Given the description of an element on the screen output the (x, y) to click on. 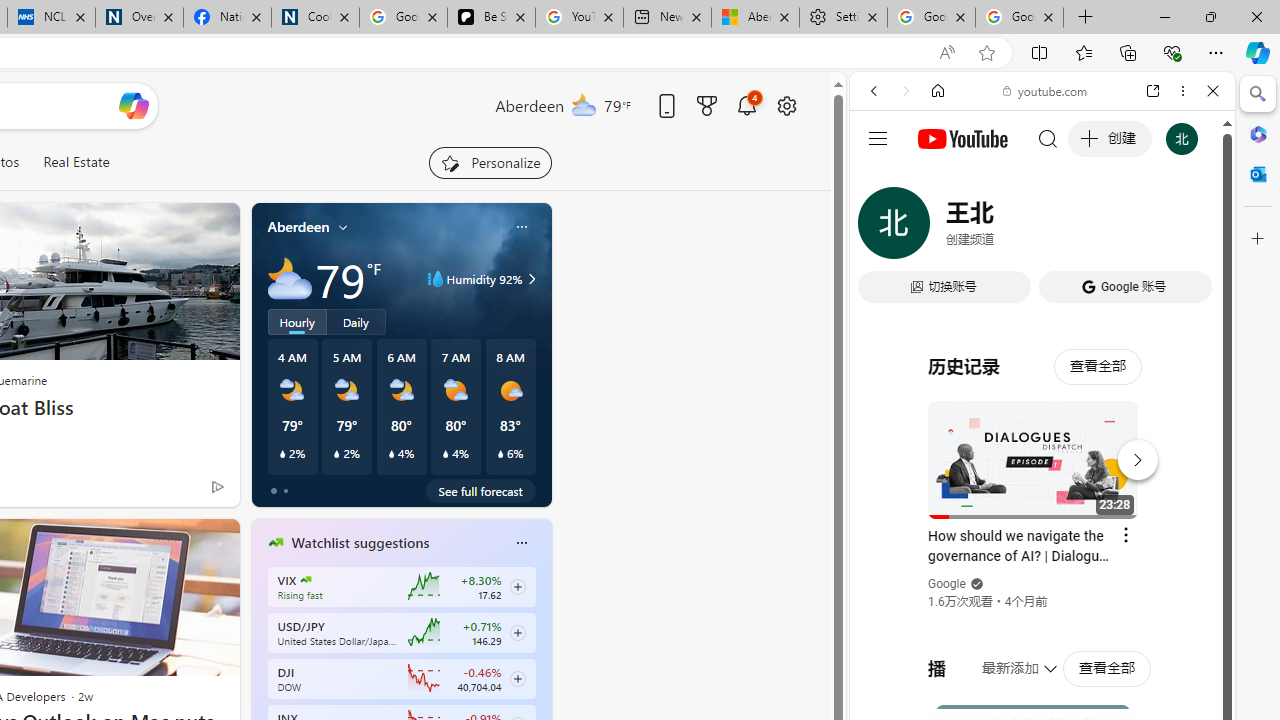
Class: icon-img (521, 542)
Hourly (296, 321)
Open settings (786, 105)
Daily (356, 321)
tab-1 (285, 490)
Web scope (882, 180)
Notifications (746, 105)
WEB   (882, 228)
Open Copilot (132, 105)
